Given the description of an element on the screen output the (x, y) to click on. 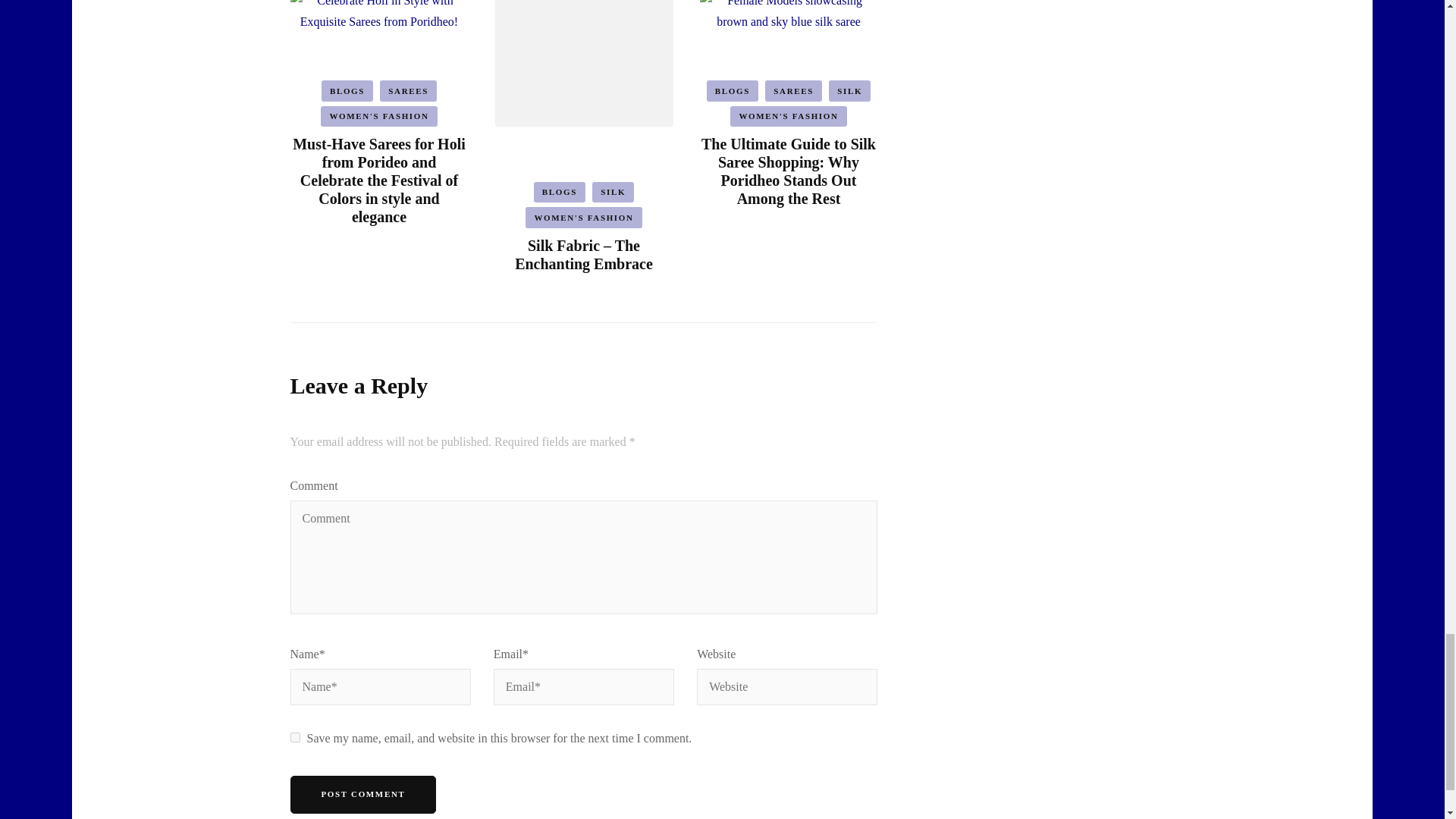
yes (294, 737)
Post Comment (362, 794)
